Given the description of an element on the screen output the (x, y) to click on. 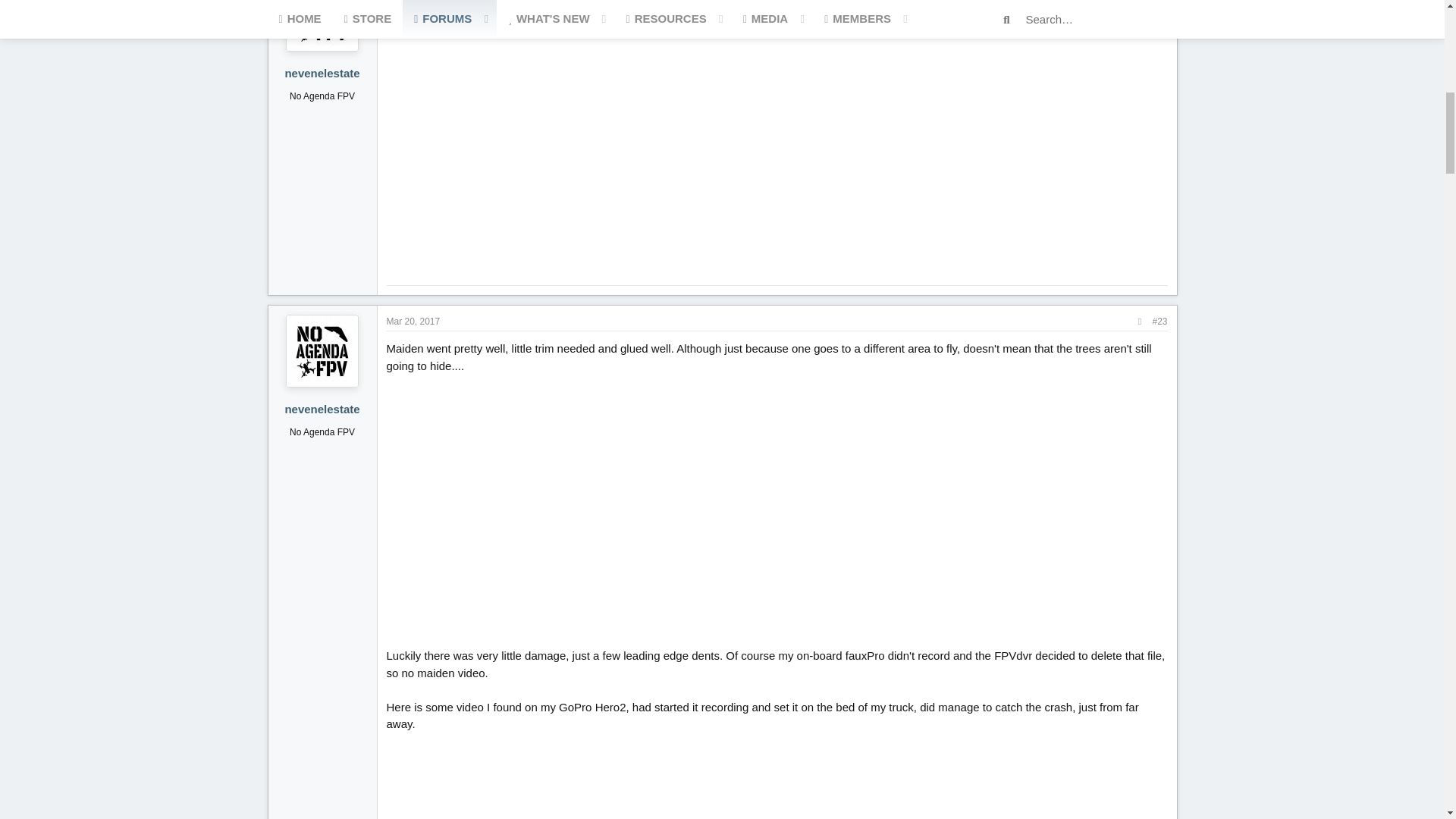
Mar 20, 2017 at 9:22 PM (414, 321)
